Given the description of an element on the screen output the (x, y) to click on. 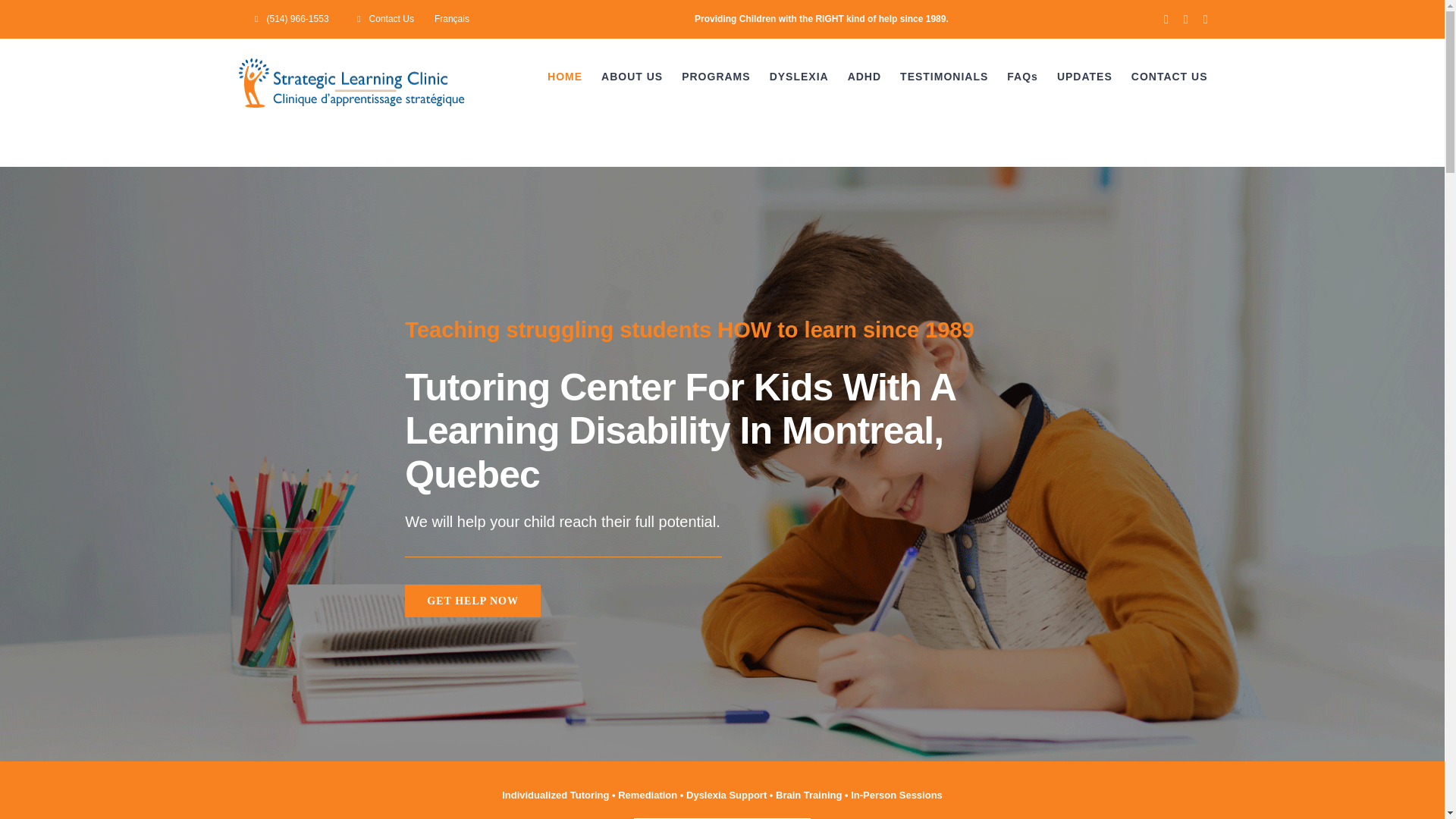
TESTIMONIALS (943, 76)
CONTACT US (1169, 76)
Contact Us (381, 18)
PROGRAMS (715, 76)
GET HELP NOW (472, 599)
